Given the description of an element on the screen output the (x, y) to click on. 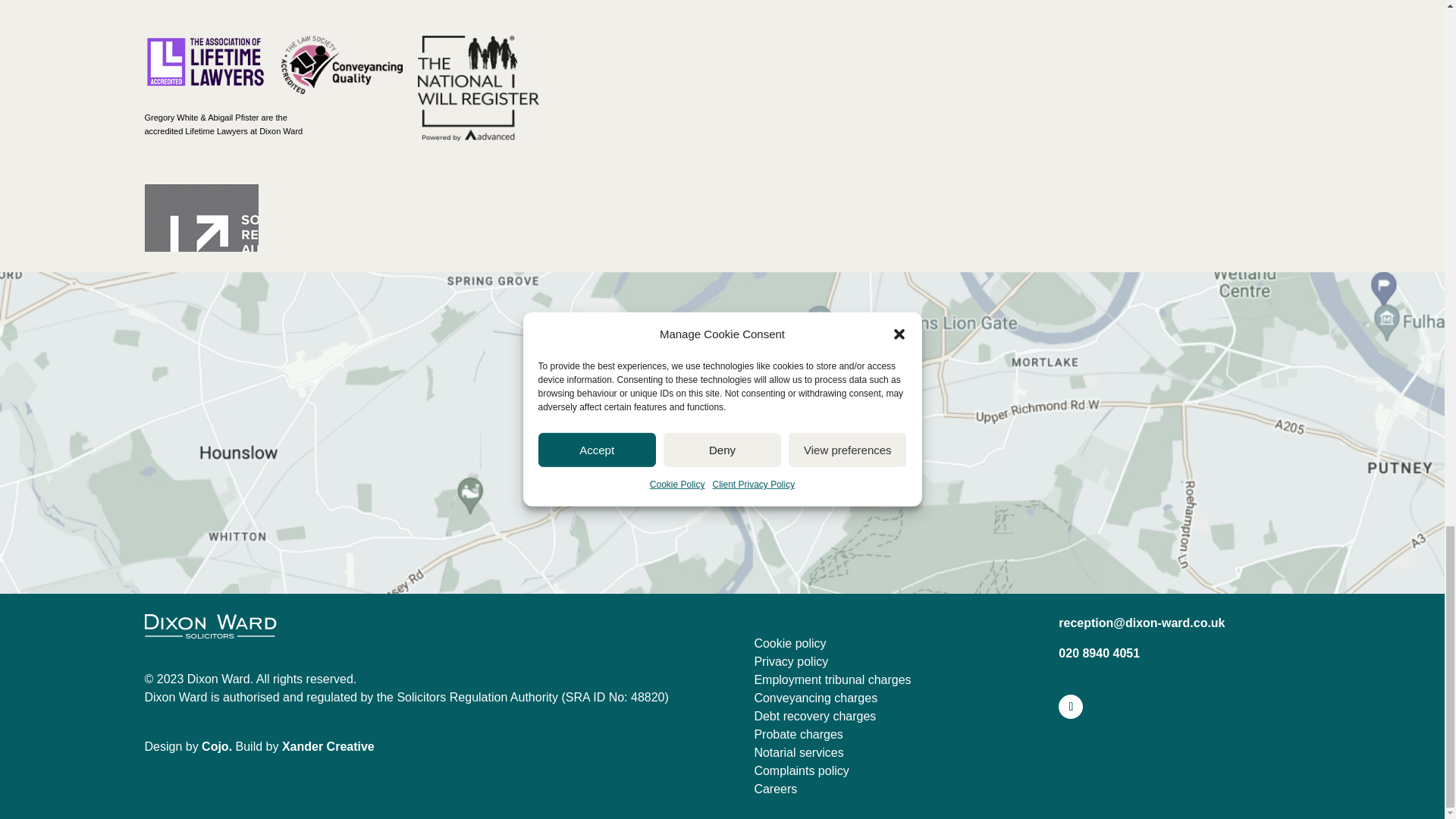
Logo (210, 626)
Follow on LinkedIn (1070, 706)
